Given the description of an element on the screen output the (x, y) to click on. 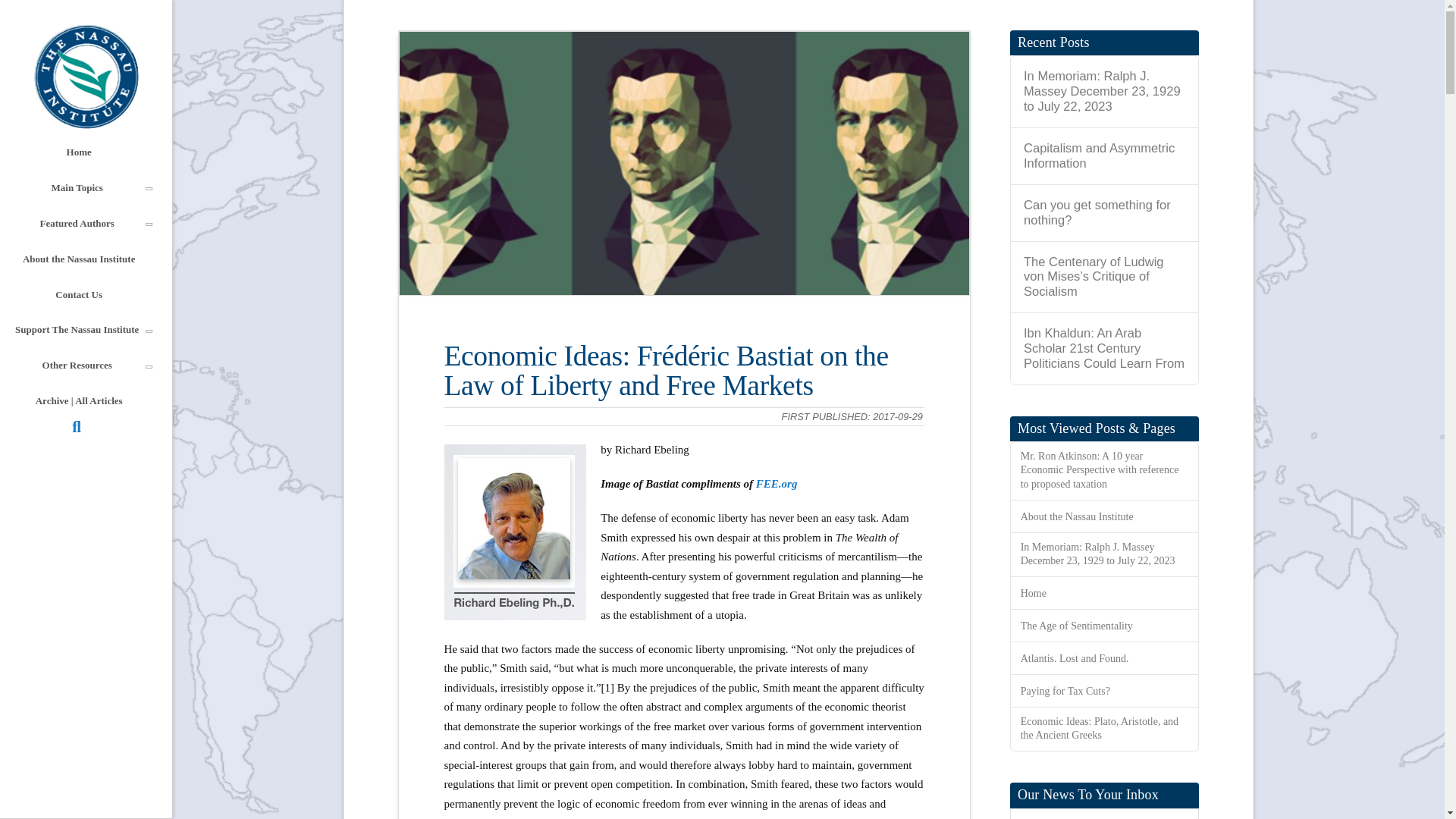
Home (78, 152)
About the Nassau Institute (78, 259)
Contact Us (78, 294)
